Given the description of an element on the screen output the (x, y) to click on. 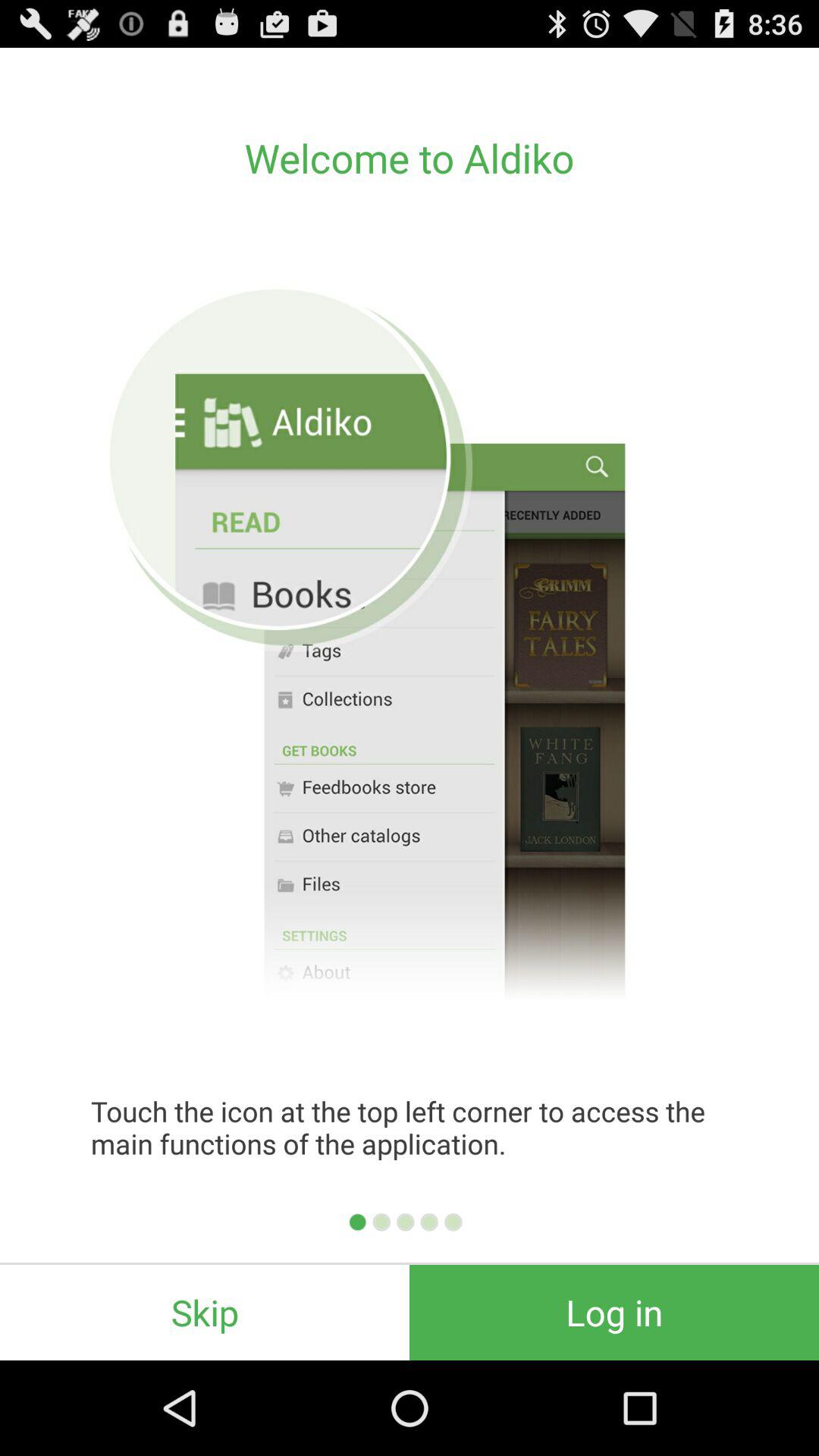
turn on item to the left of the log in item (204, 1312)
